Given the description of an element on the screen output the (x, y) to click on. 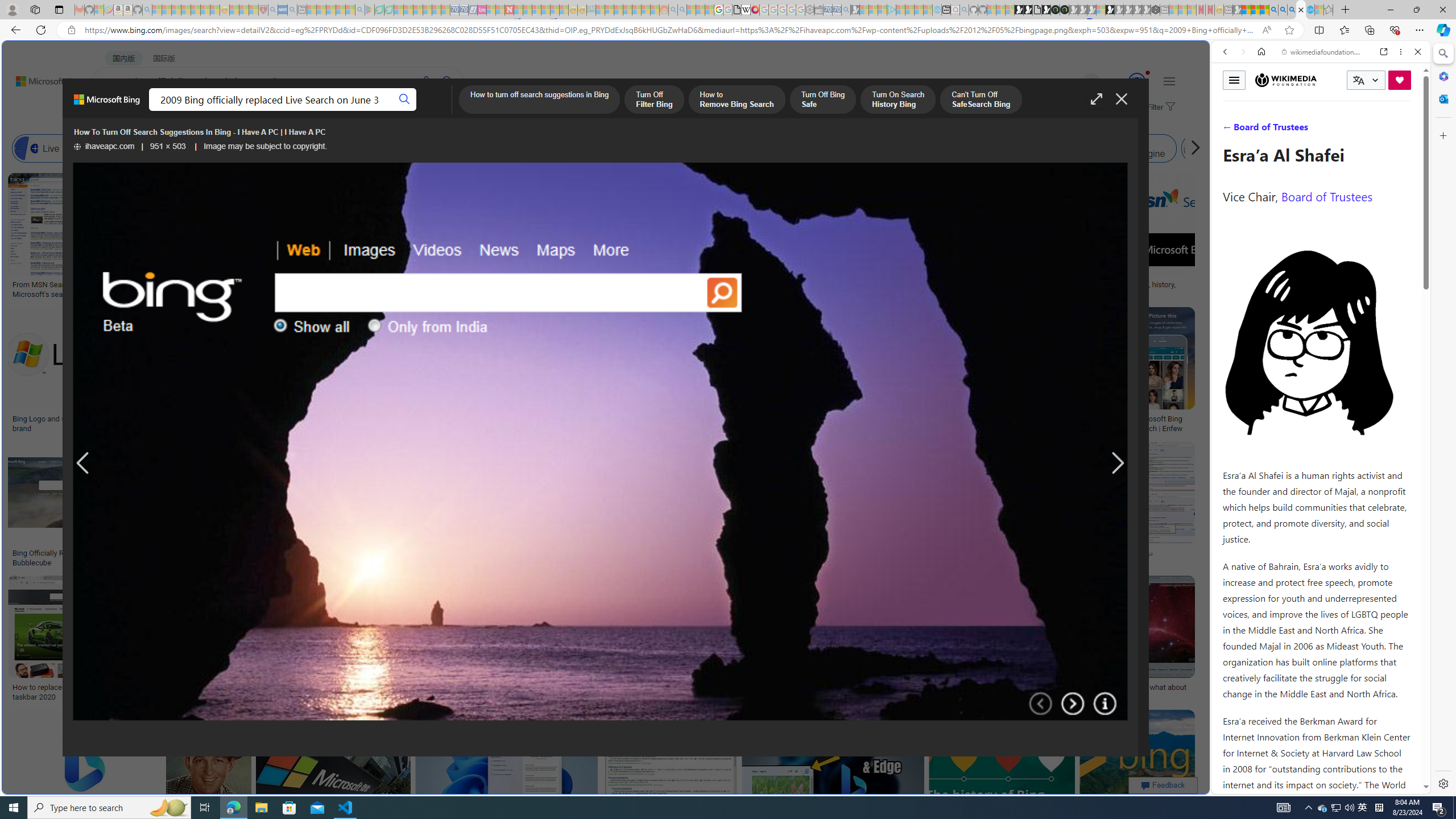
WEB (114, 111)
MORE (451, 111)
Utah sues federal government - Search - Sleeping (681, 9)
Microsoft Bing Search | EnfewSave (1162, 371)
Bing Voice Search (121, 148)
MSN (1118, 536)
Bluey: Let's Play! - Apps on Google Play - Sleeping (369, 9)
Bing Image Search Similar Images (964, 148)
Future Focus Report 2024 (1064, 9)
